Given the description of an element on the screen output the (x, y) to click on. 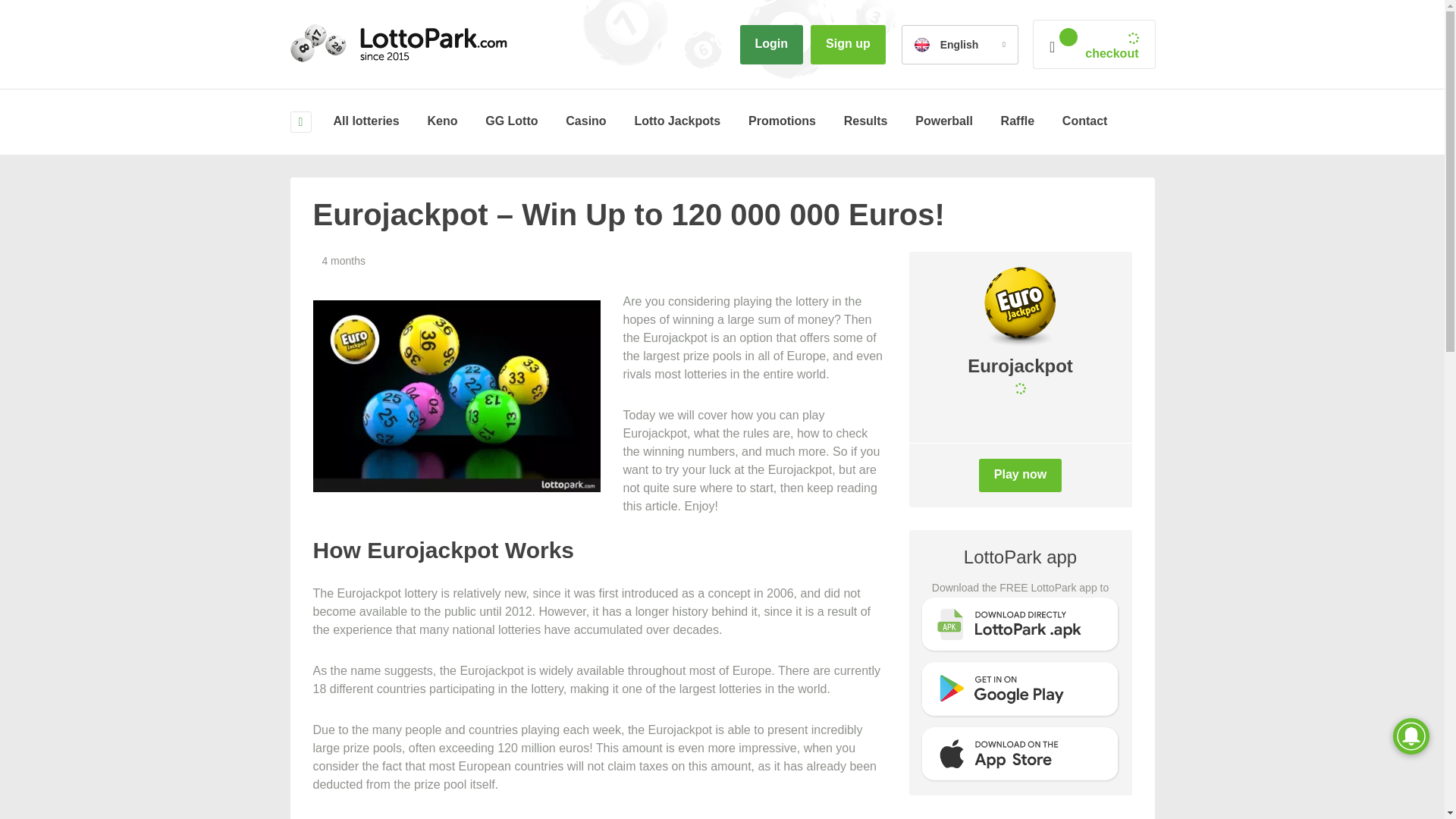
Login (771, 44)
Sign up (847, 44)
English (960, 45)
